Given the description of an element on the screen output the (x, y) to click on. 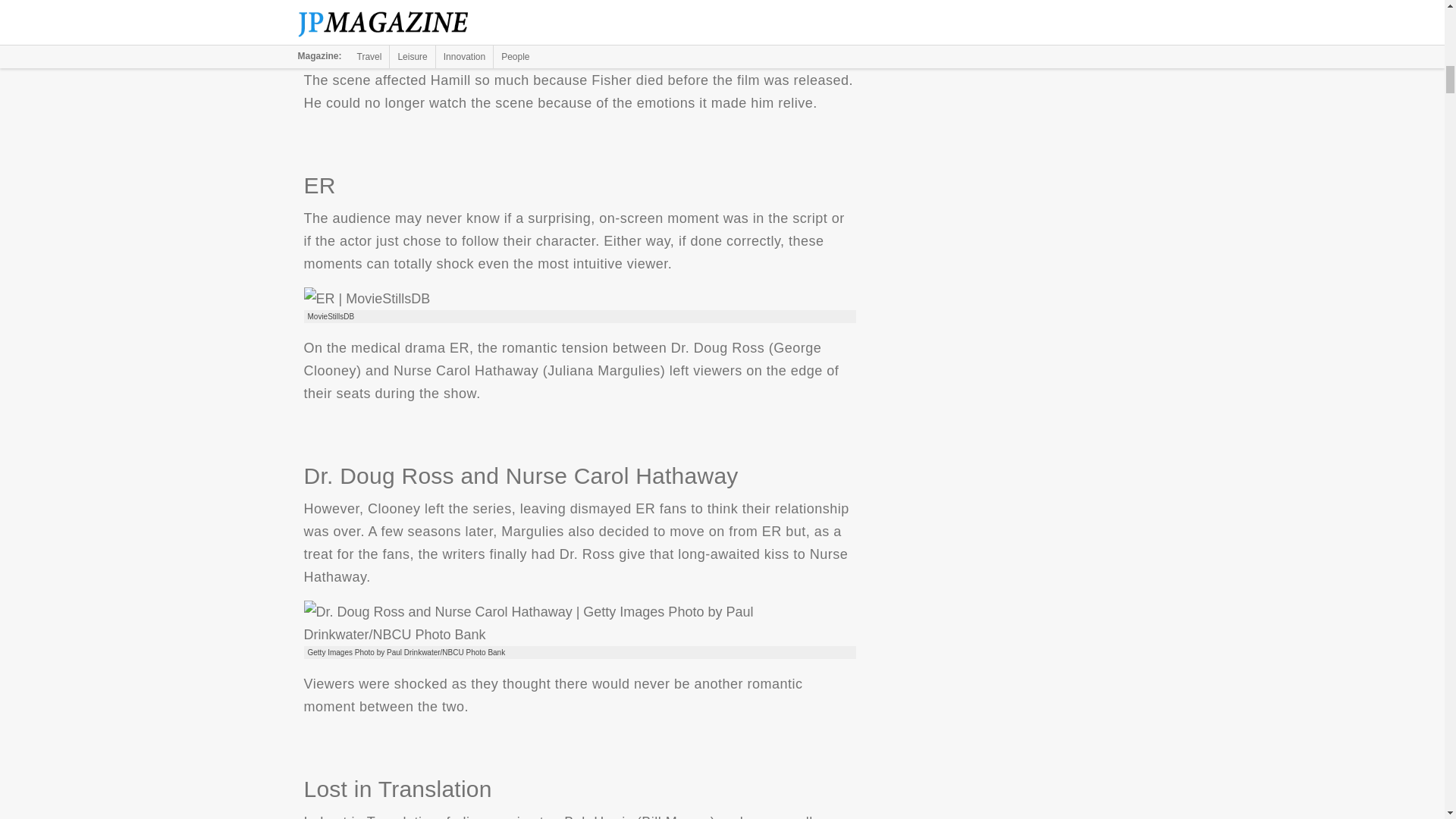
Dr. Doug Ross and Nurse Carol Hathaway (579, 623)
Luke and Leia (466, 30)
ER (365, 298)
